Given the description of an element on the screen output the (x, y) to click on. 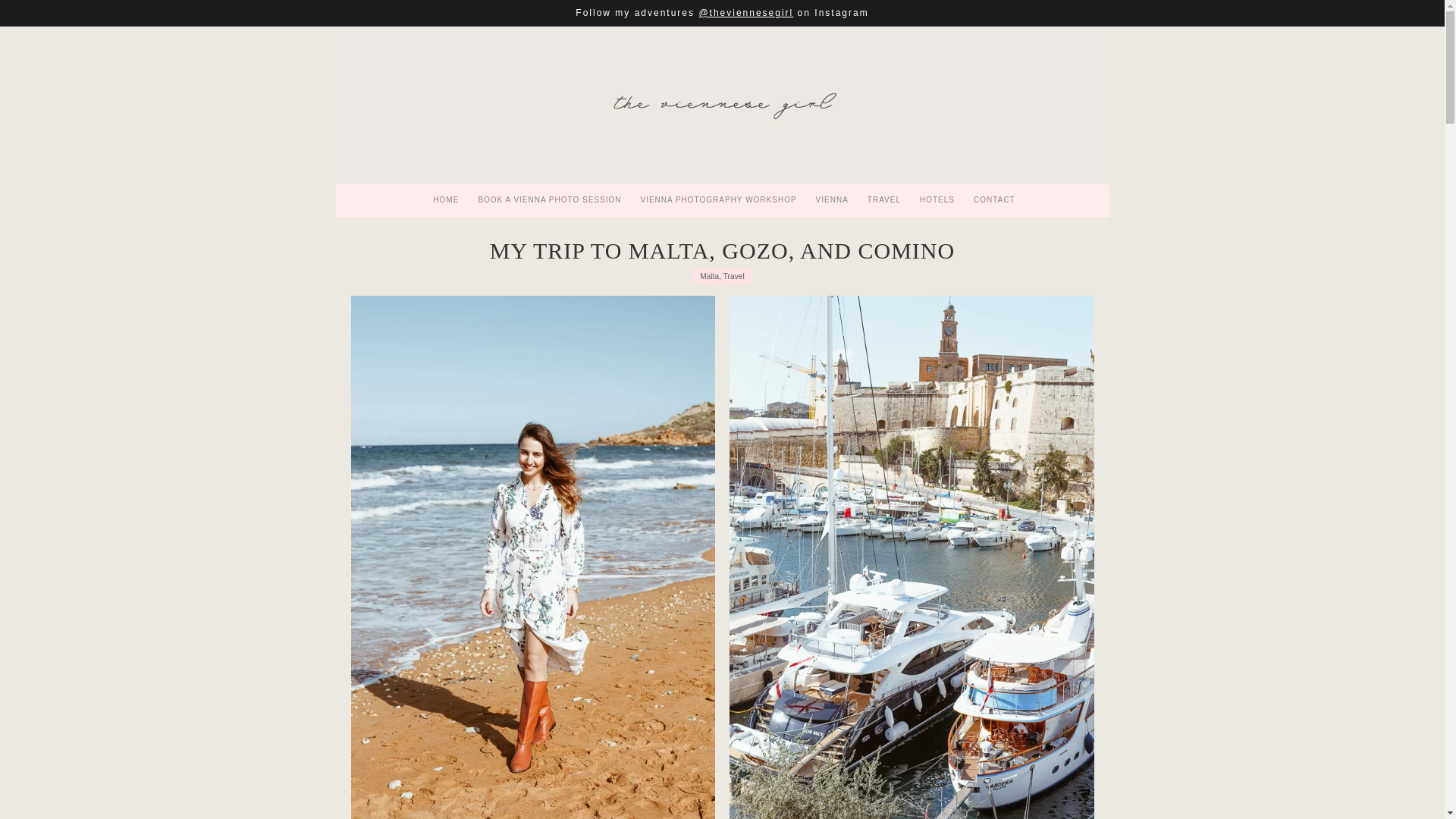
Instagram (840, 12)
VIENNA (832, 199)
HOME (446, 199)
VIENNA PHOTOGRAPHY WORKSHOP (718, 199)
Photography Workshop (718, 199)
TRAVEL (884, 199)
BOOK A VIENNA PHOTO SESSION (548, 199)
Vienna Photographer (721, 105)
Book a photo session (548, 199)
